Given the description of an element on the screen output the (x, y) to click on. 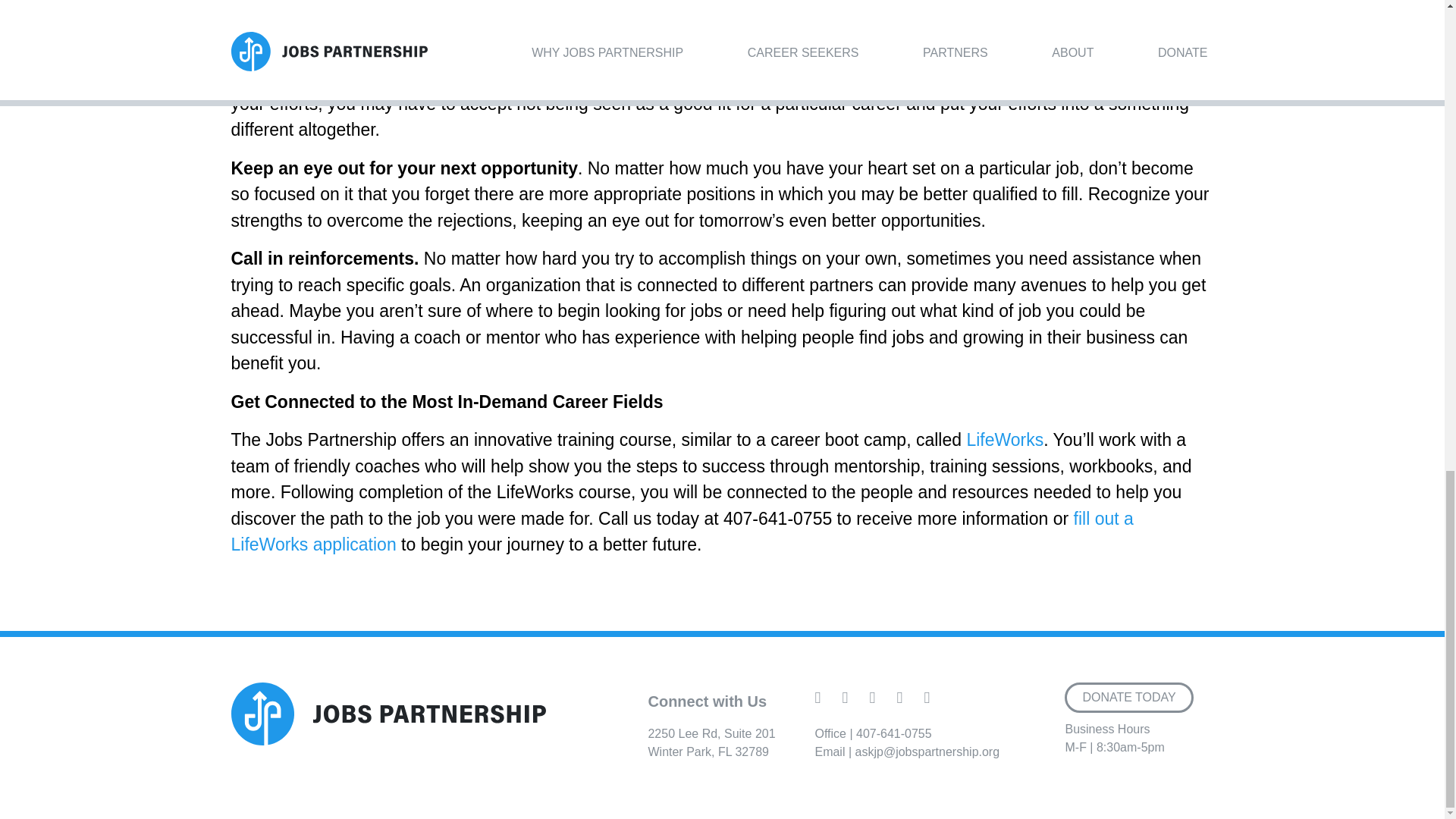
LifeWorks (1004, 439)
fill out a LifeWorks application (681, 531)
407-641-0755 (710, 742)
DONATE TODAY (893, 733)
